Given the description of an element on the screen output the (x, y) to click on. 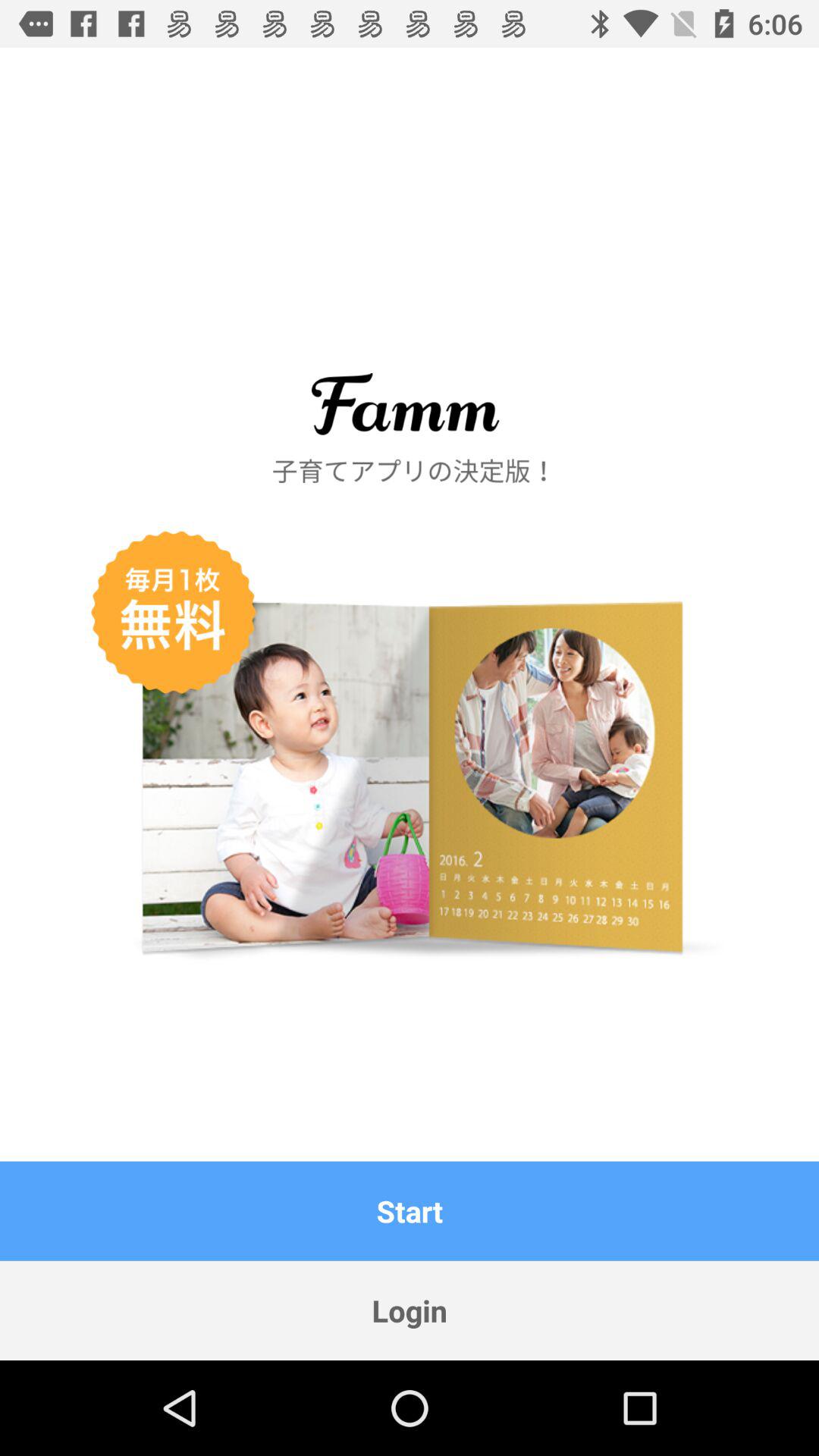
turn on login icon (409, 1310)
